Given the description of an element on the screen output the (x, y) to click on. 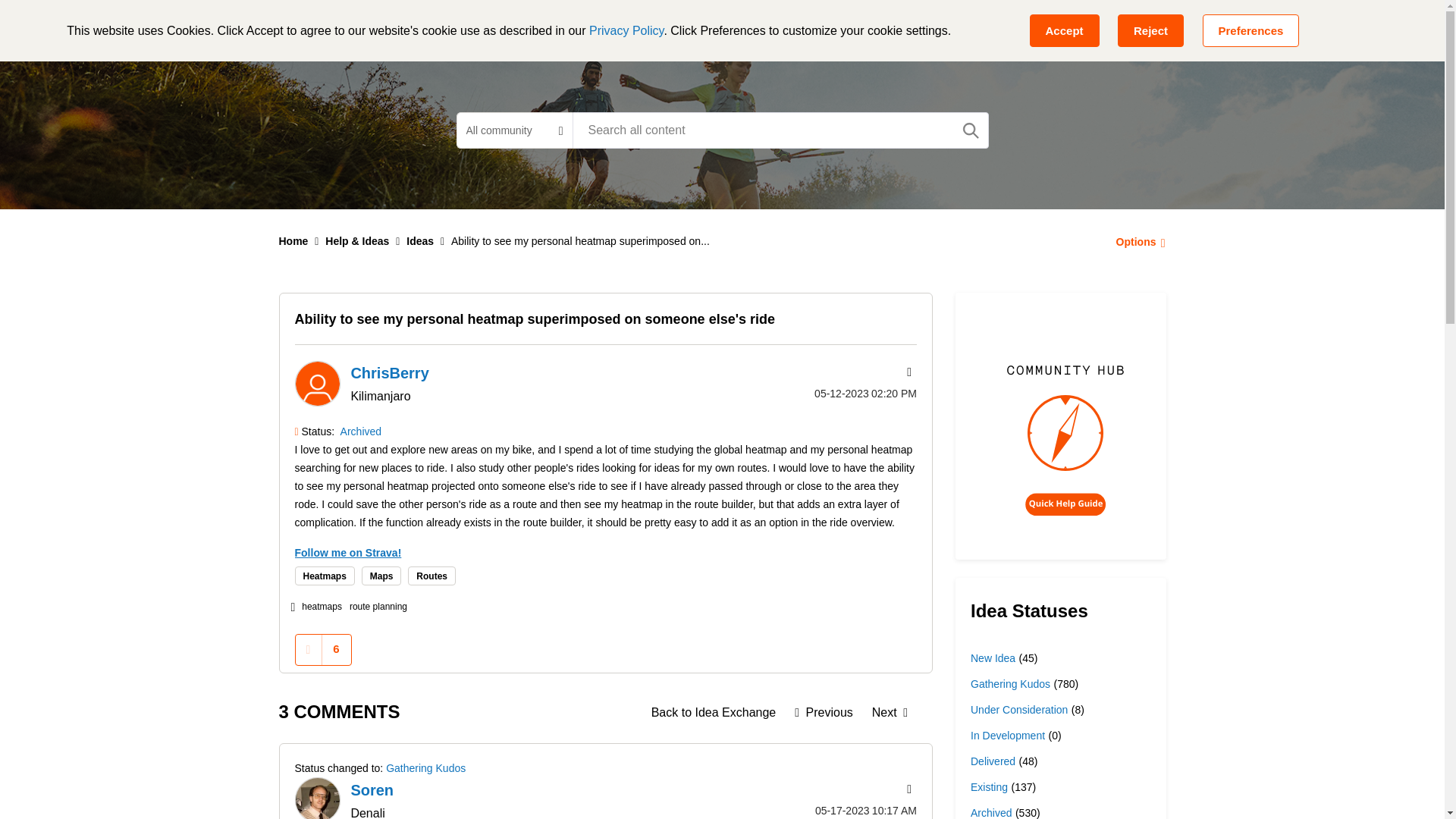
Developers (680, 25)
Ideas (714, 712)
Show option menu (1136, 241)
Preferences (1251, 30)
Privacy Policy (626, 30)
Click here to see who gave kudos to this post. (335, 649)
Home (293, 241)
Strava Community Hub (363, 25)
Options (1136, 241)
Ideas (419, 241)
Accept (1064, 30)
Basecamp (497, 25)
The Club Hub (778, 25)
ChrisBerry (316, 383)
